Given the description of an element on the screen output the (x, y) to click on. 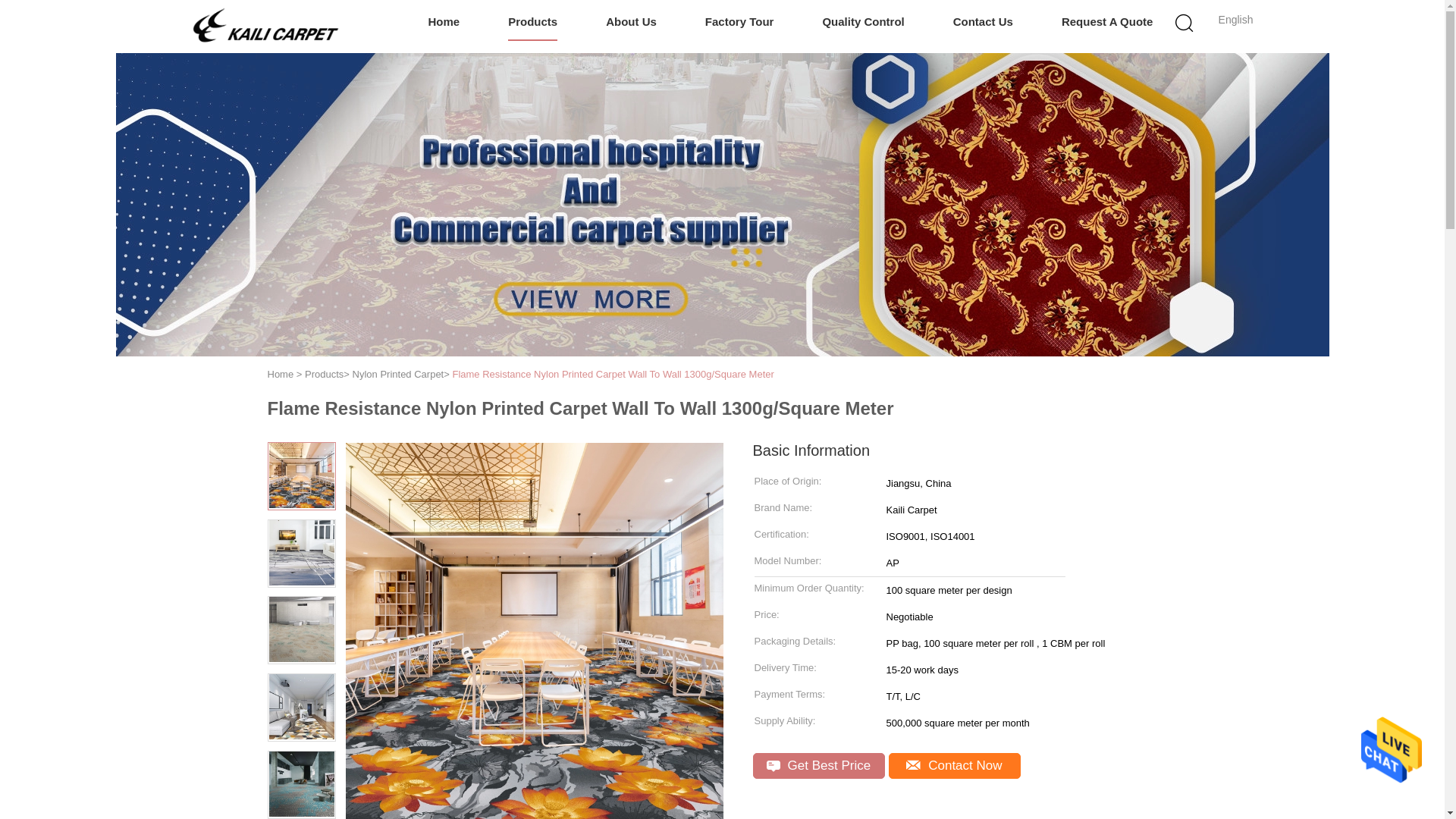
Contact Us (983, 22)
Factory Tour (739, 22)
Products (532, 22)
Request A Quote (1107, 22)
Search (1044, 100)
About Us (630, 22)
Products (323, 374)
Quality Control (863, 22)
Home (280, 374)
Jiangsu Kaili Carpet Co., Ltd. (264, 25)
Nylon Printed Carpet (398, 374)
